Given the description of an element on the screen output the (x, y) to click on. 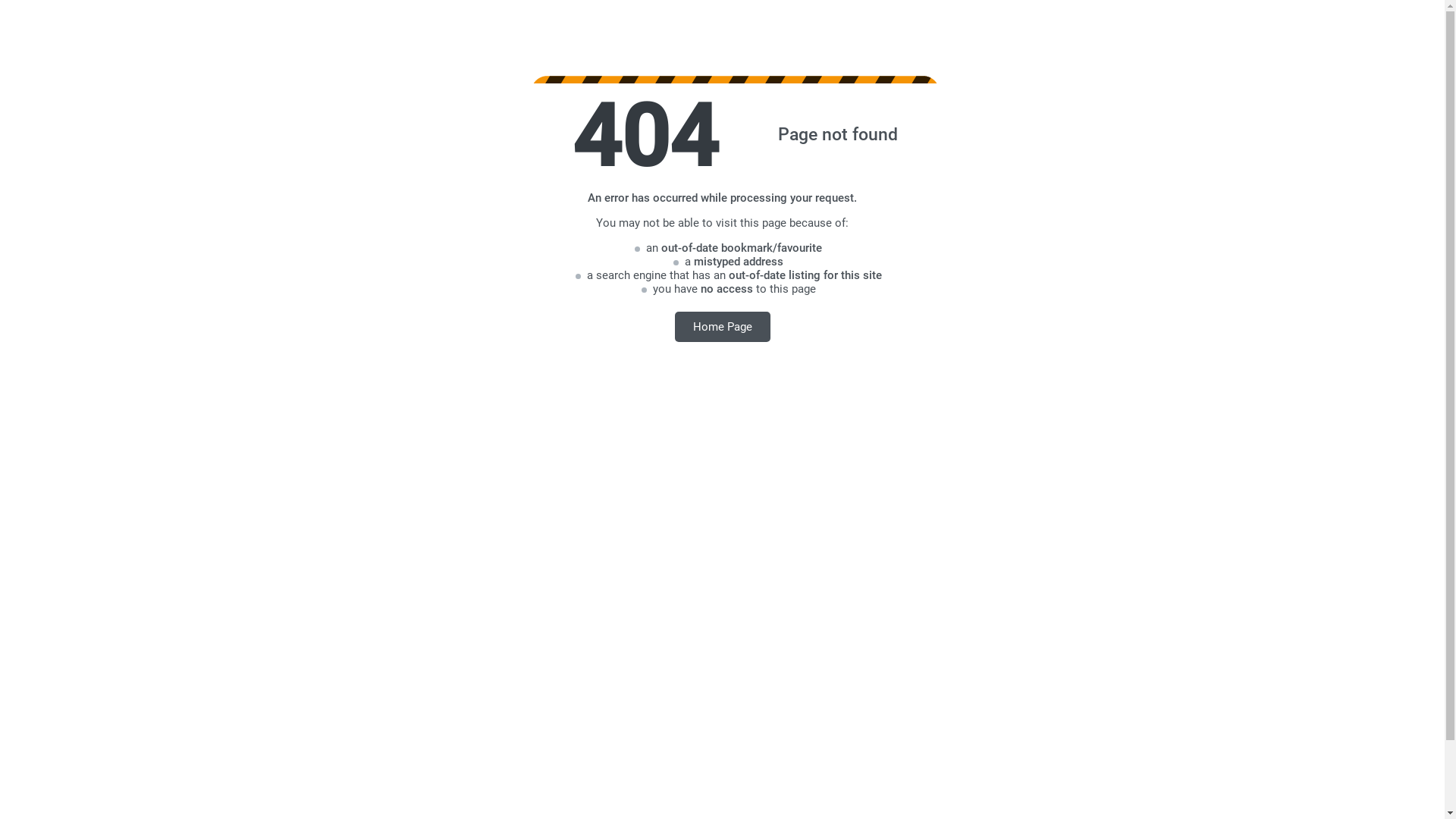
Home Page Element type: text (722, 326)
